Given the description of an element on the screen output the (x, y) to click on. 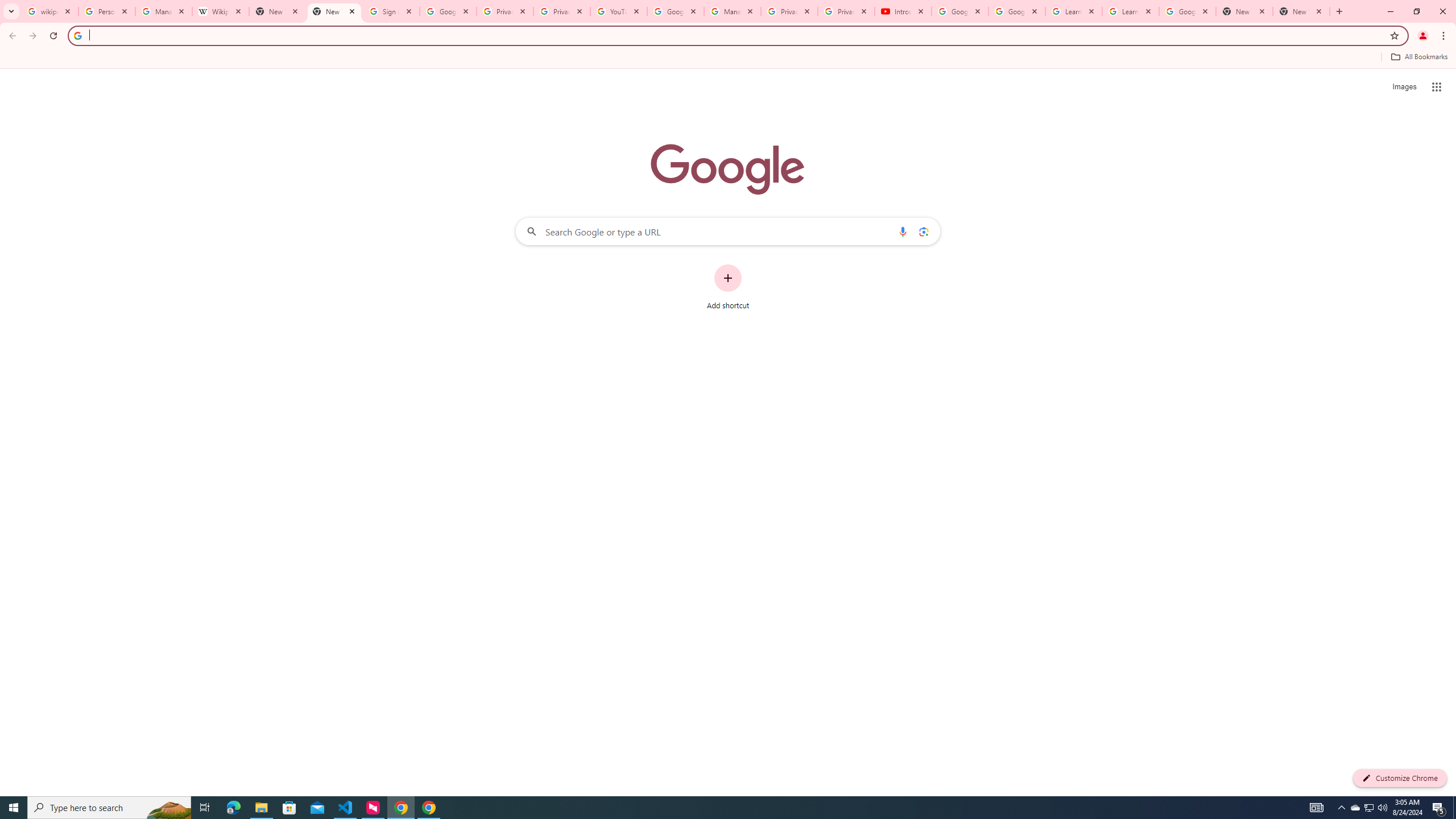
Google Drive: Sign-in (447, 11)
All Bookmarks (1418, 56)
Search Google or type a URL (727, 230)
New Tab (1301, 11)
Sign in - Google Accounts (391, 11)
Add shortcut (727, 287)
Google Account Help (675, 11)
Manage your Location History - Google Search Help (163, 11)
